Given the description of an element on the screen output the (x, y) to click on. 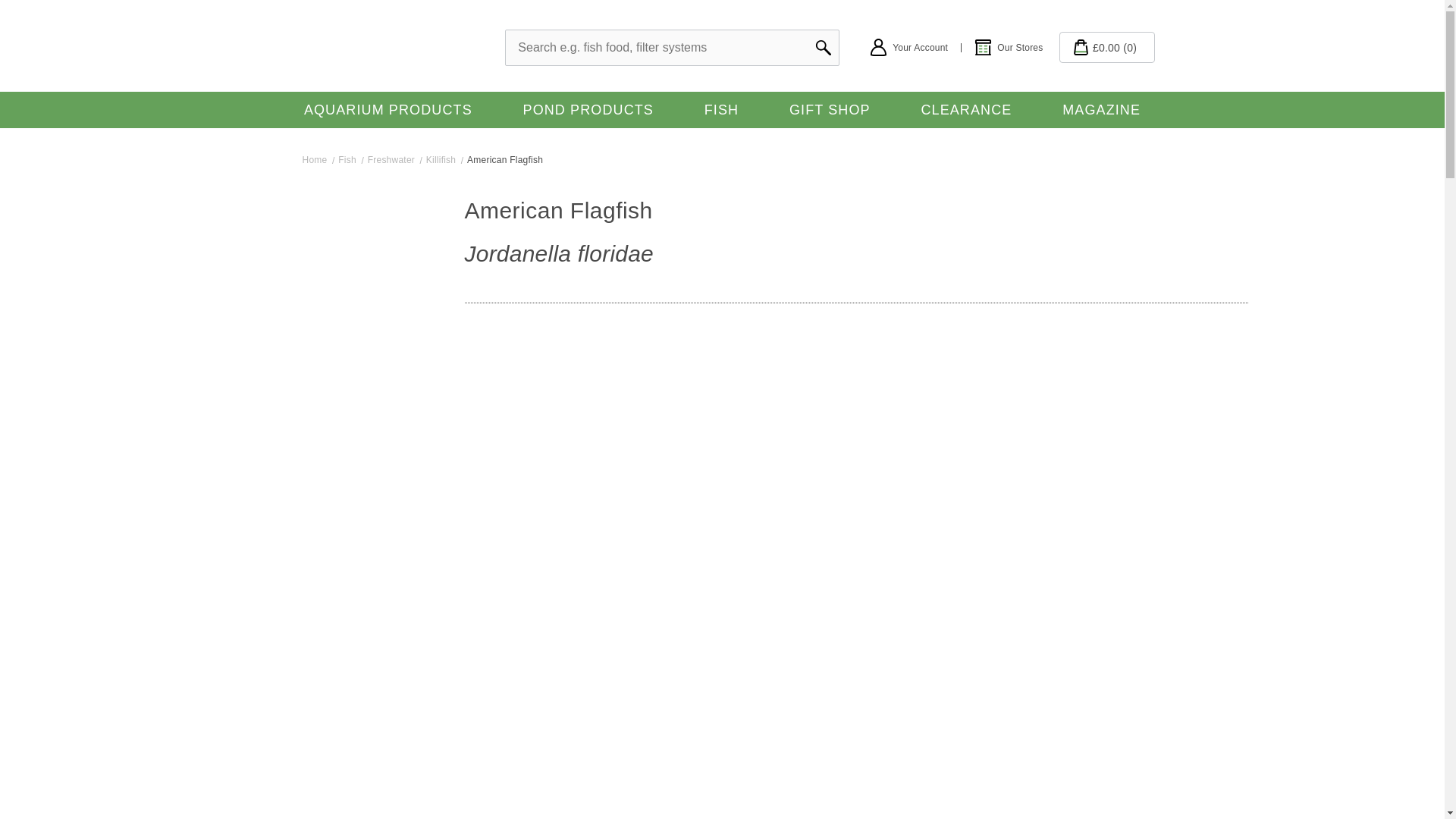
AQUARIUM PRODUCTS (388, 109)
Freshwater (395, 159)
Our Stores (1008, 47)
Home Page (317, 159)
Killifish (445, 159)
Your Account (921, 47)
Our Stores (1008, 47)
Your Account (921, 47)
Fish (350, 159)
